Given the description of an element on the screen output the (x, y) to click on. 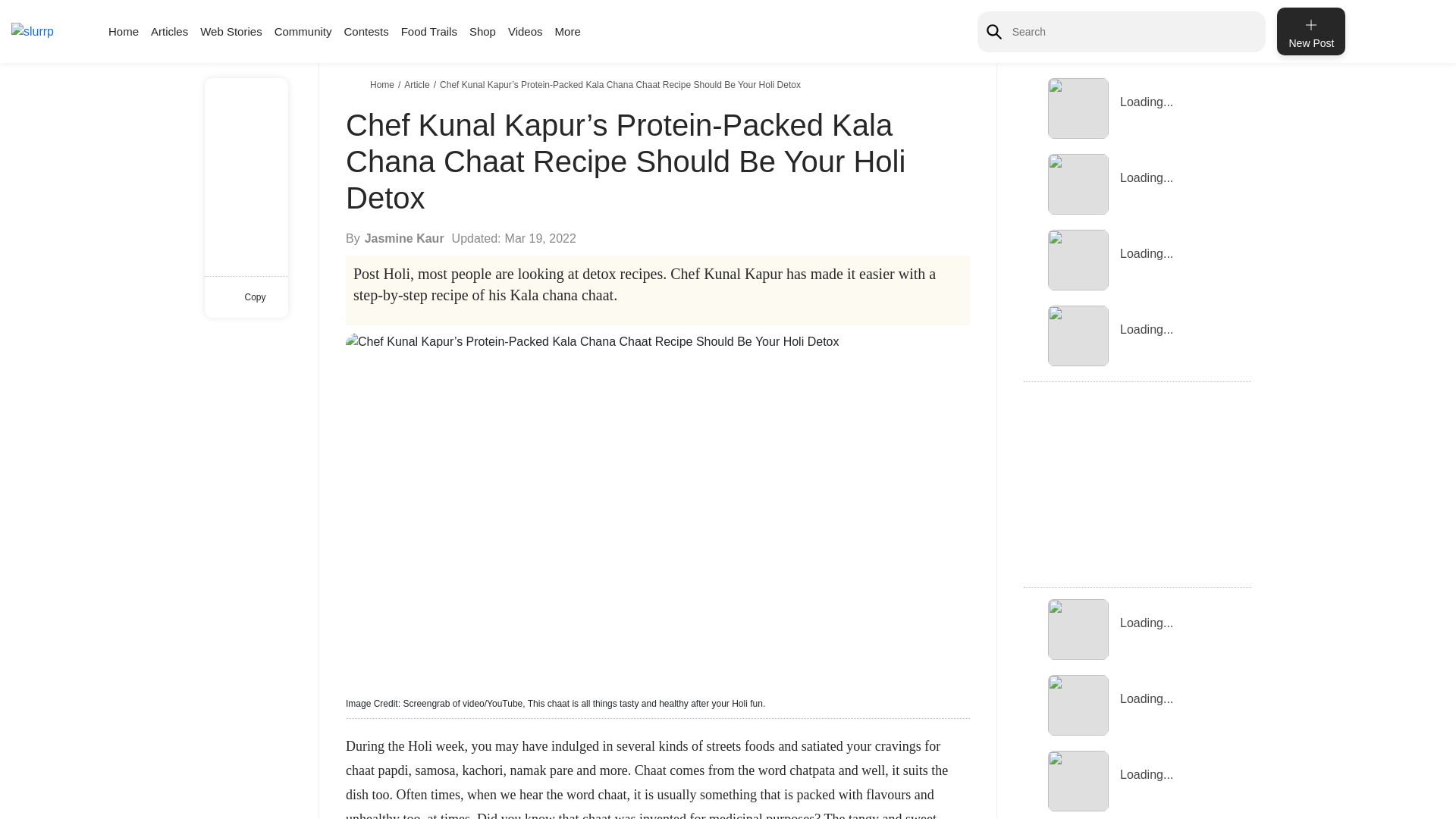
Articles (169, 31)
New Post (1310, 31)
Food Trails (429, 31)
Article (418, 84)
Videos (525, 31)
Home (383, 84)
Contests (365, 31)
Shop (482, 31)
Community (303, 31)
Home (122, 31)
Web Stories (231, 31)
